Given the description of an element on the screen output the (x, y) to click on. 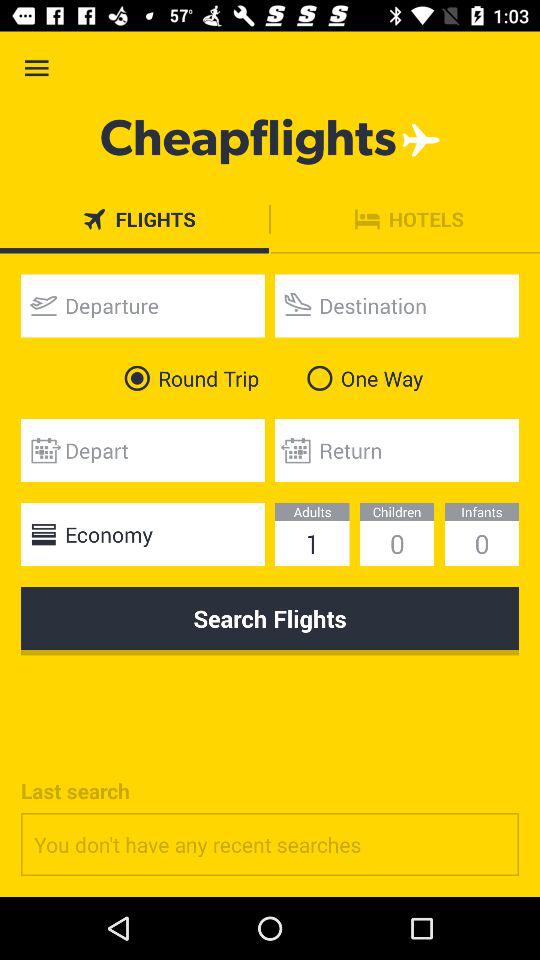
select date (142, 450)
